Given the description of an element on the screen output the (x, y) to click on. 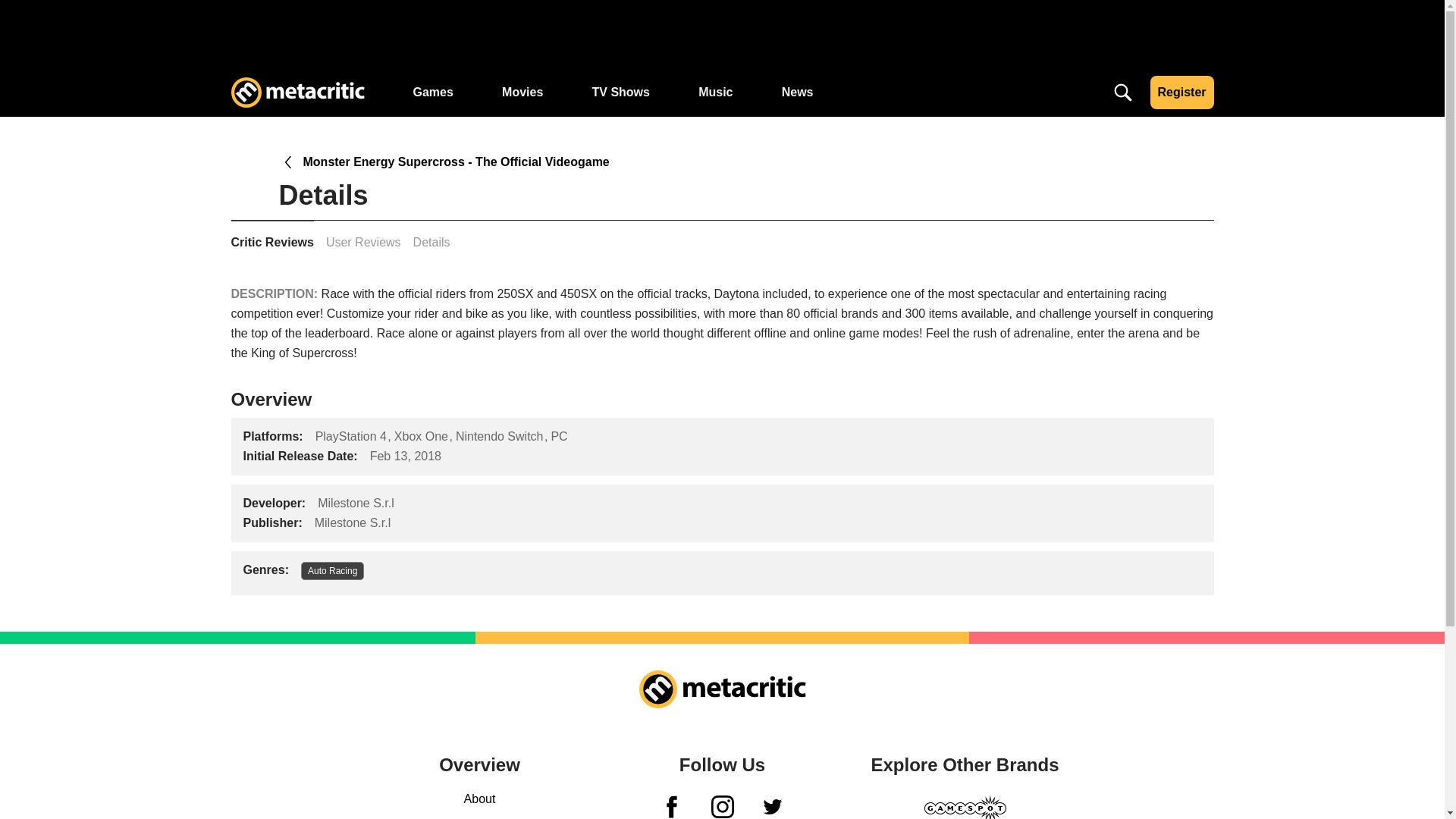
Games (432, 92)
Movies (521, 92)
